Given the description of an element on the screen output the (x, y) to click on. 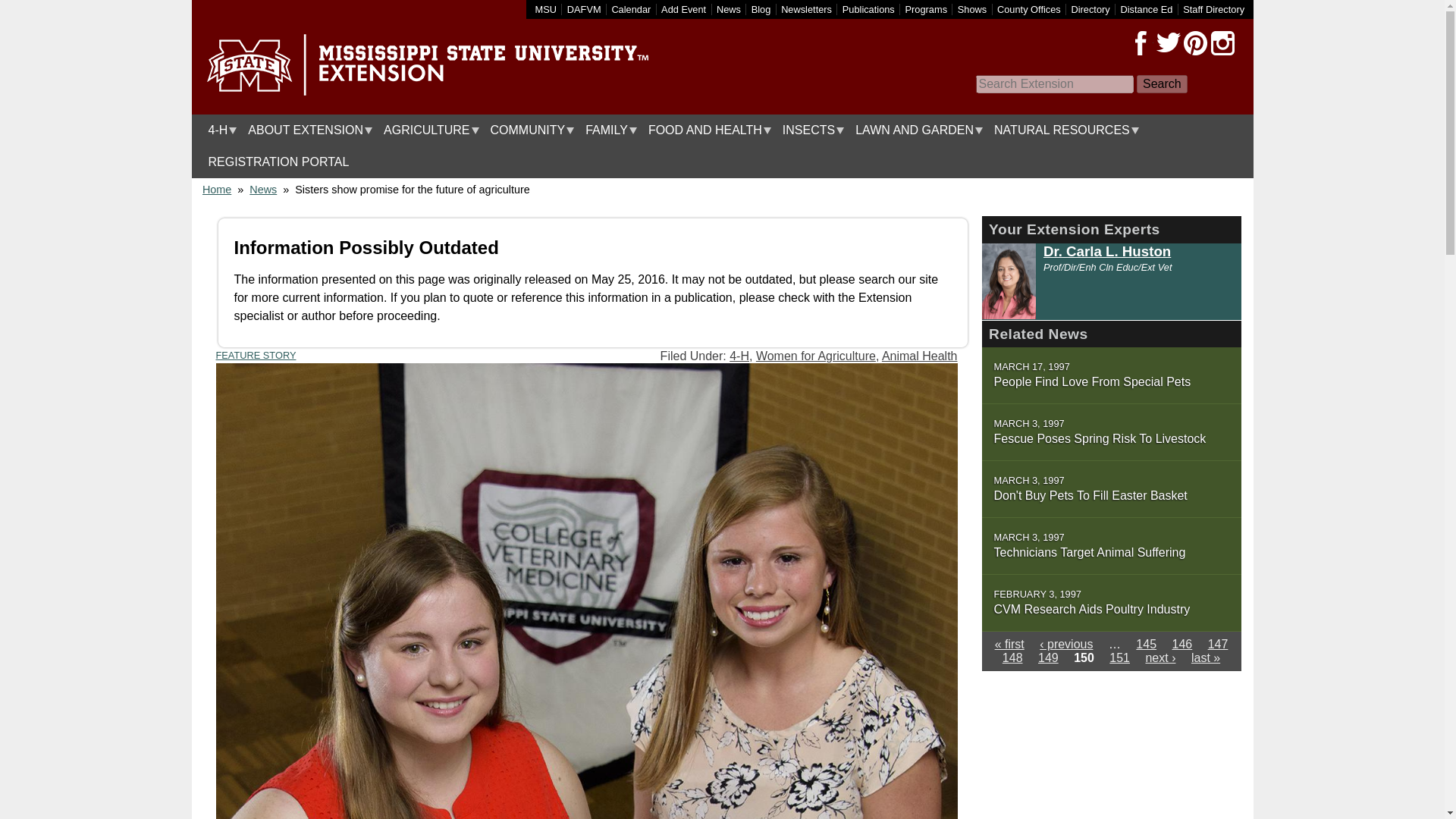
Facebook (1140, 43)
List of Extension Programs (926, 9)
The main event calendar for the MSU Extension Service (630, 9)
Find a county extension office (1029, 9)
Twitter (1167, 43)
Calendar (630, 9)
Blog (761, 9)
Instagram (1221, 43)
News (728, 9)
Directory (1089, 9)
Distance Ed (1145, 9)
Pinterest (1194, 43)
